Given the description of an element on the screen output the (x, y) to click on. 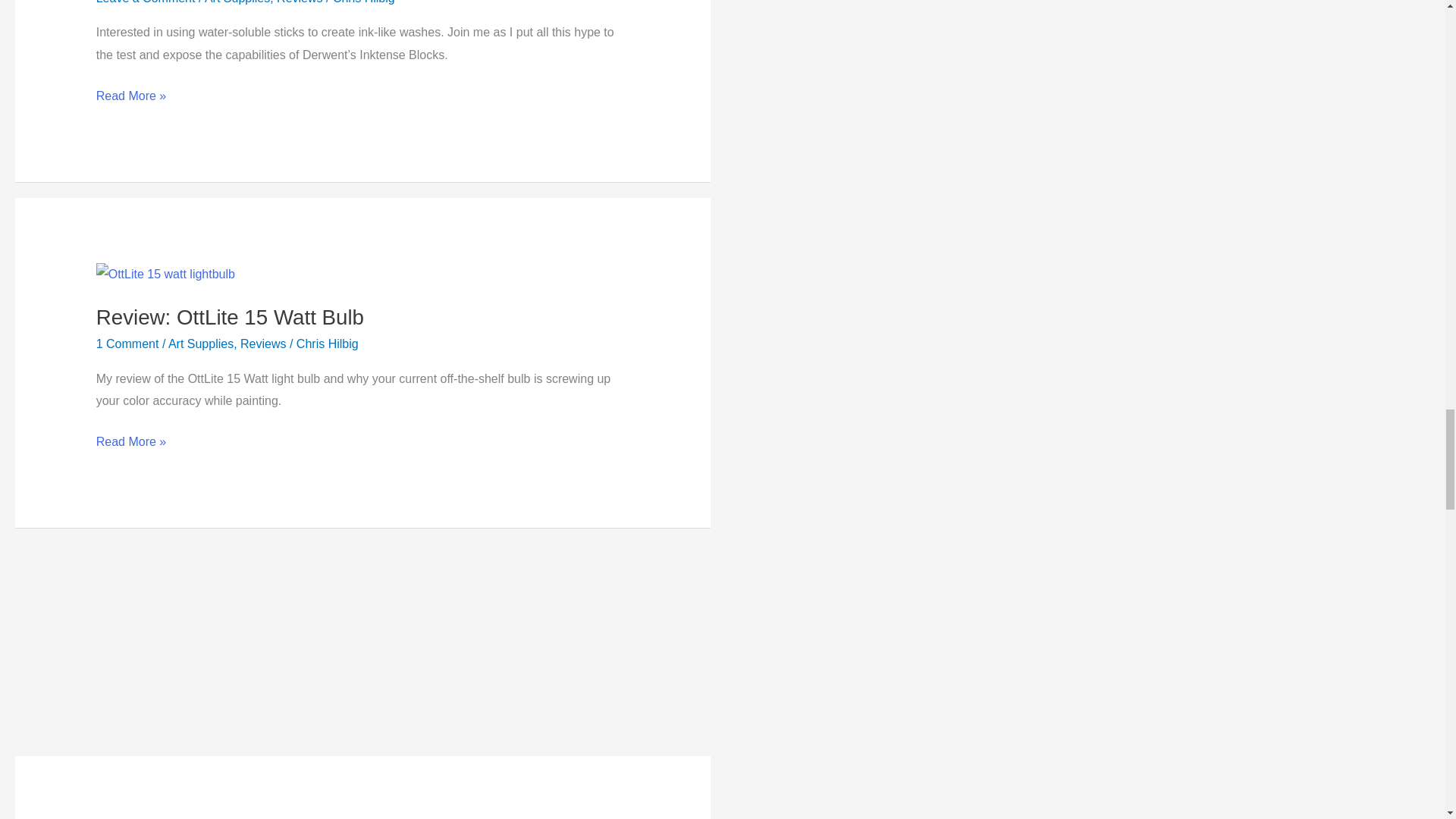
View all posts by Chris Hilbig (327, 343)
View all posts by Chris Hilbig (363, 2)
